Given the description of an element on the screen output the (x, y) to click on. 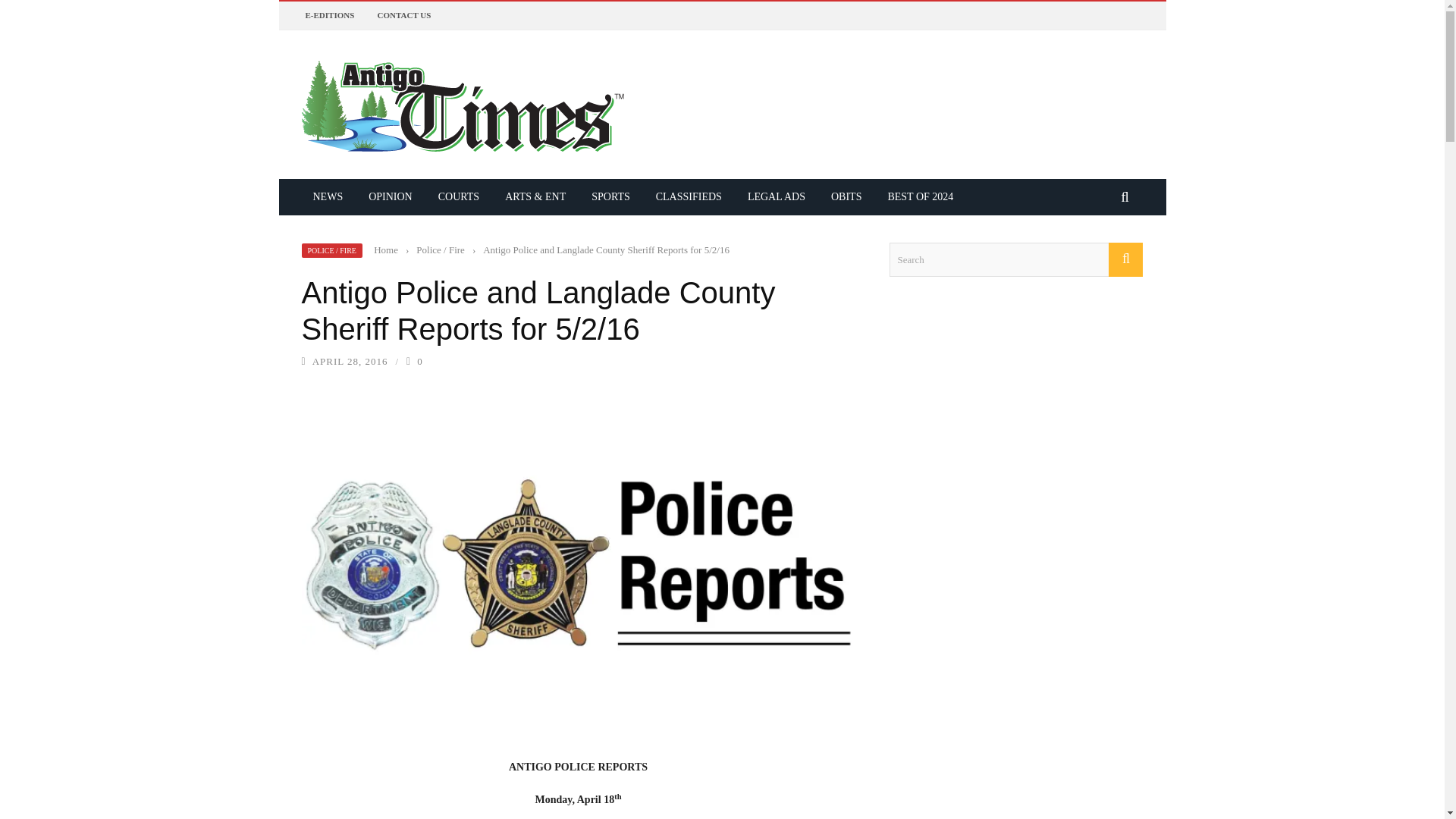
NEWS (328, 196)
CONTACT US (403, 14)
SPORTS (610, 196)
CLASSIFIEDS (689, 196)
Search (1015, 259)
BEST OF 2024 (919, 196)
OPINION (389, 196)
Advertisement (1002, 698)
E-EDITIONS (328, 14)
OBITS (845, 196)
LEGAL ADS (776, 196)
COURTS (458, 196)
Home (385, 249)
